Given the description of an element on the screen output the (x, y) to click on. 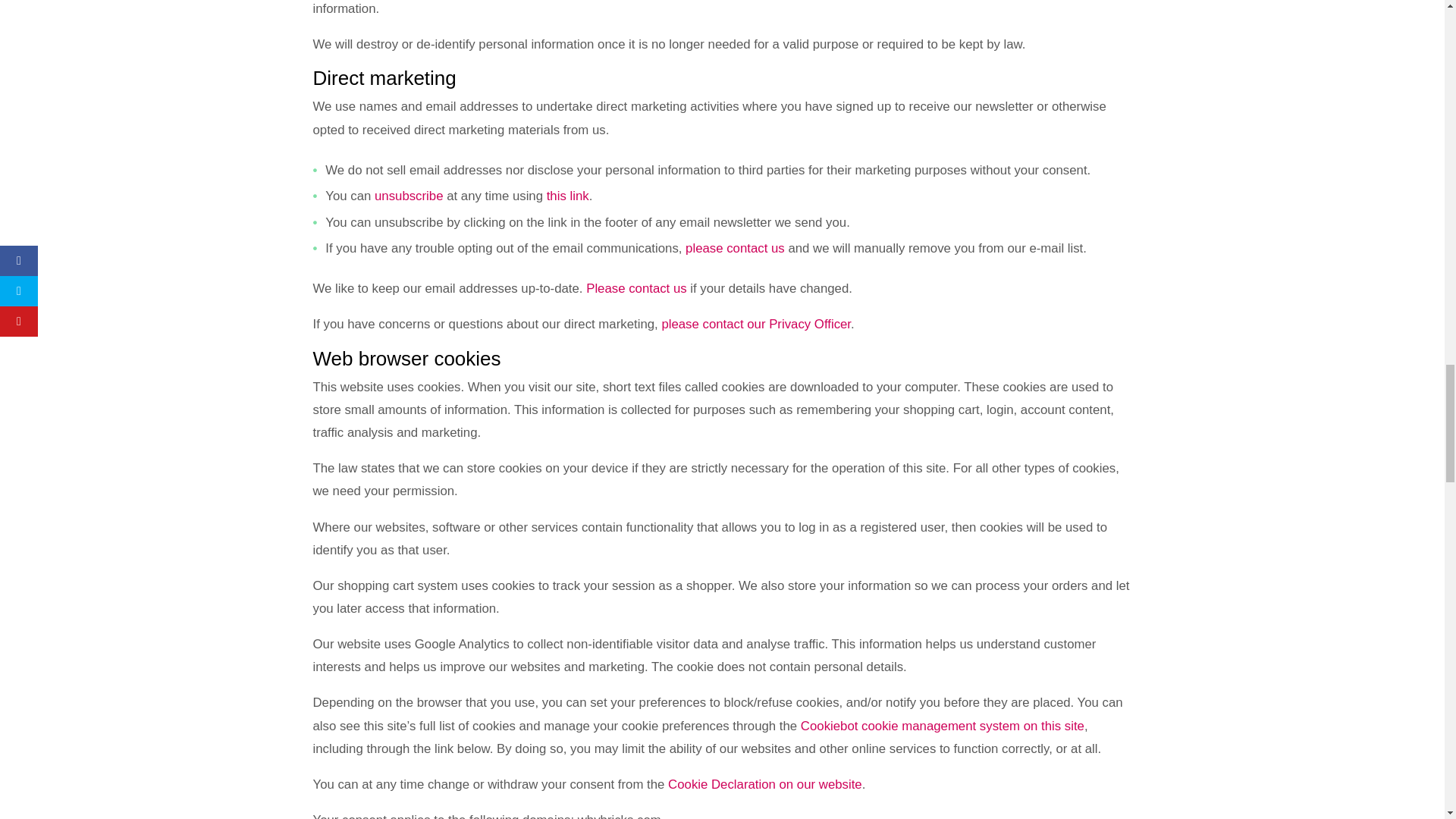
please contact us (734, 247)
unsubscribe (409, 196)
this link (568, 196)
